Given the description of an element on the screen output the (x, y) to click on. 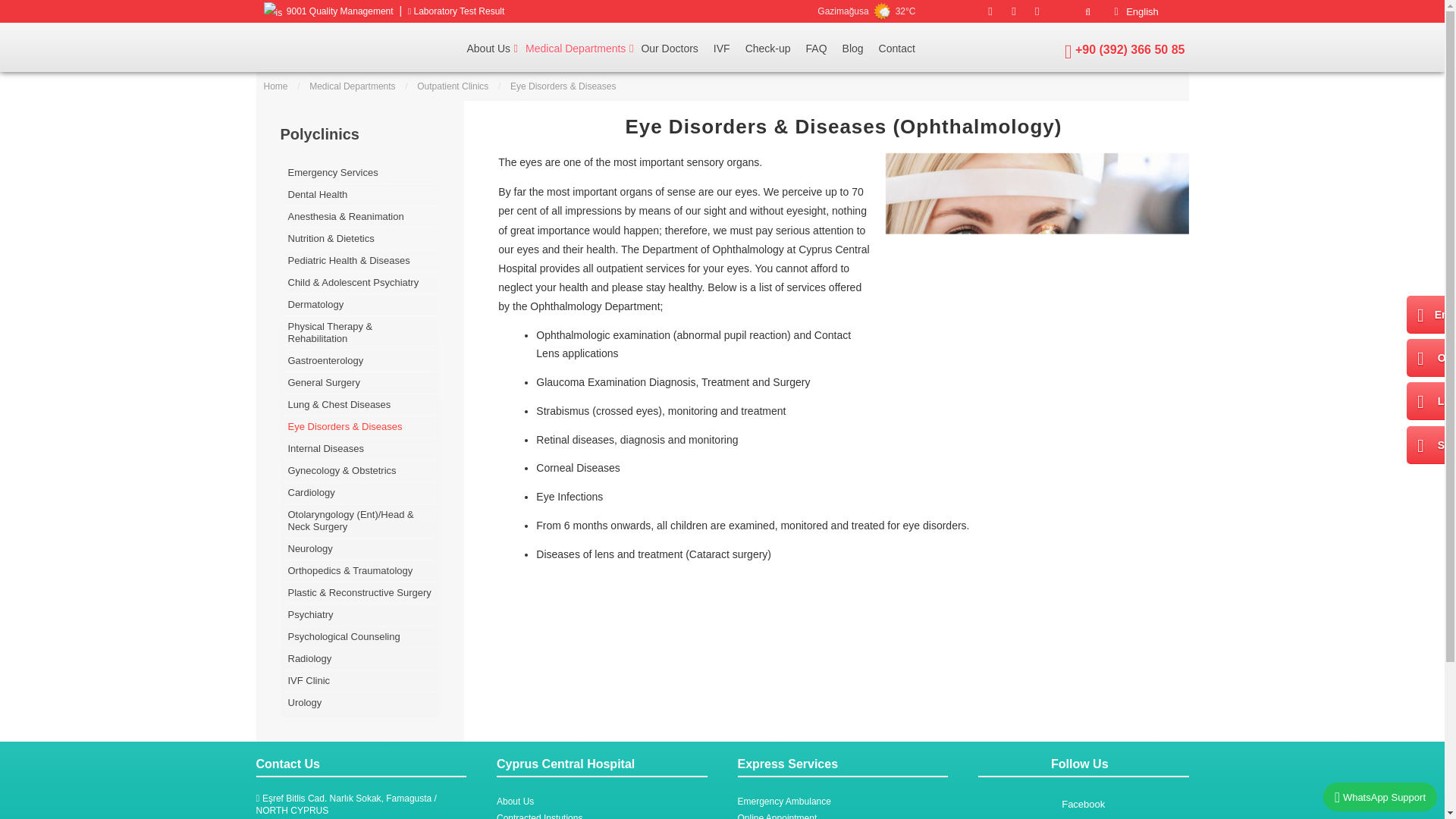
About Us (489, 49)
 9001 Quality Management (338, 10)
English (1152, 12)
Laboratory Test Result (456, 10)
Medical Departments (575, 49)
